Given the description of an element on the screen output the (x, y) to click on. 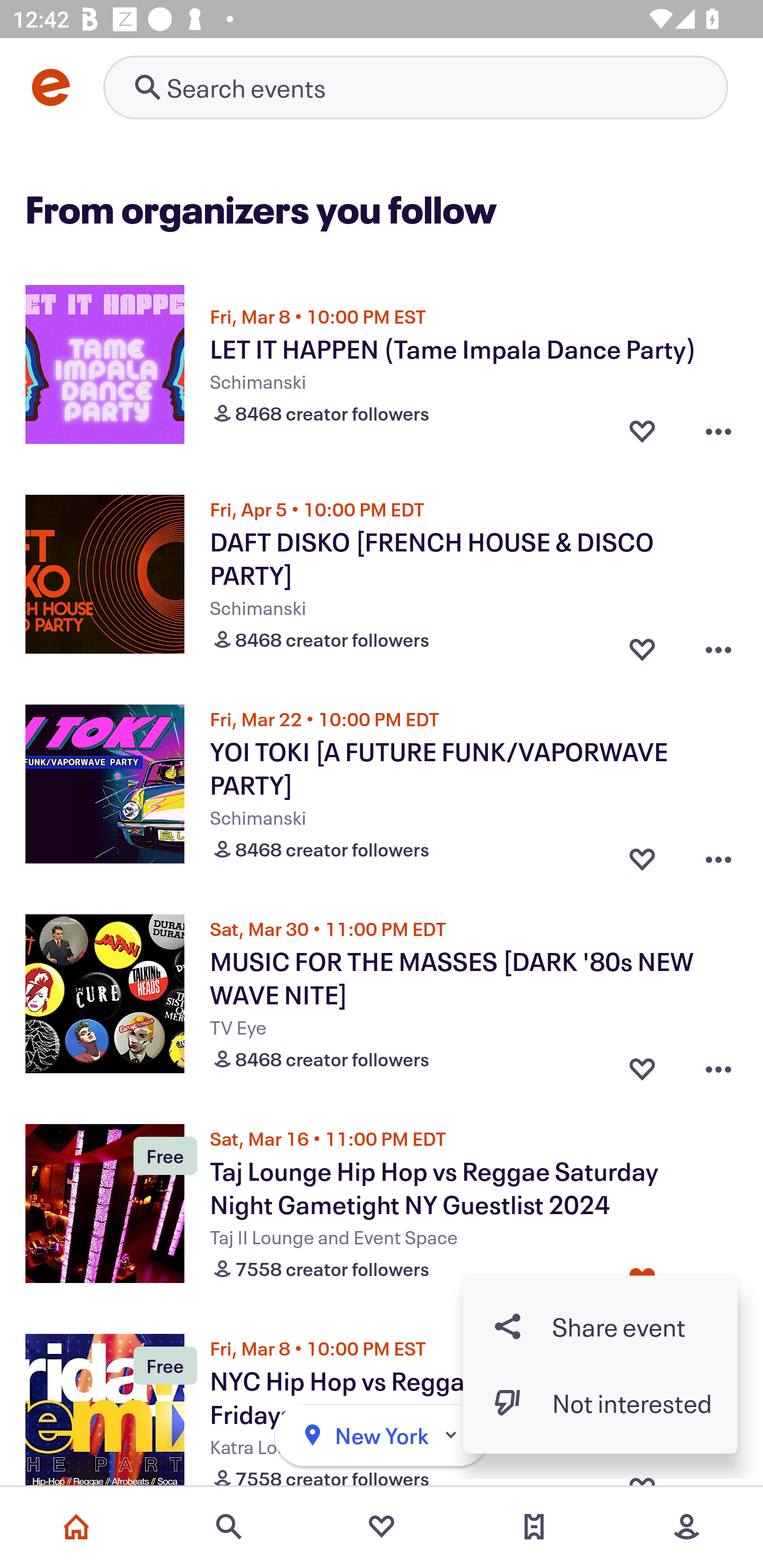
Share button Share event (600, 1326)
Dislike event button Not interested (600, 1402)
